Given the description of an element on the screen output the (x, y) to click on. 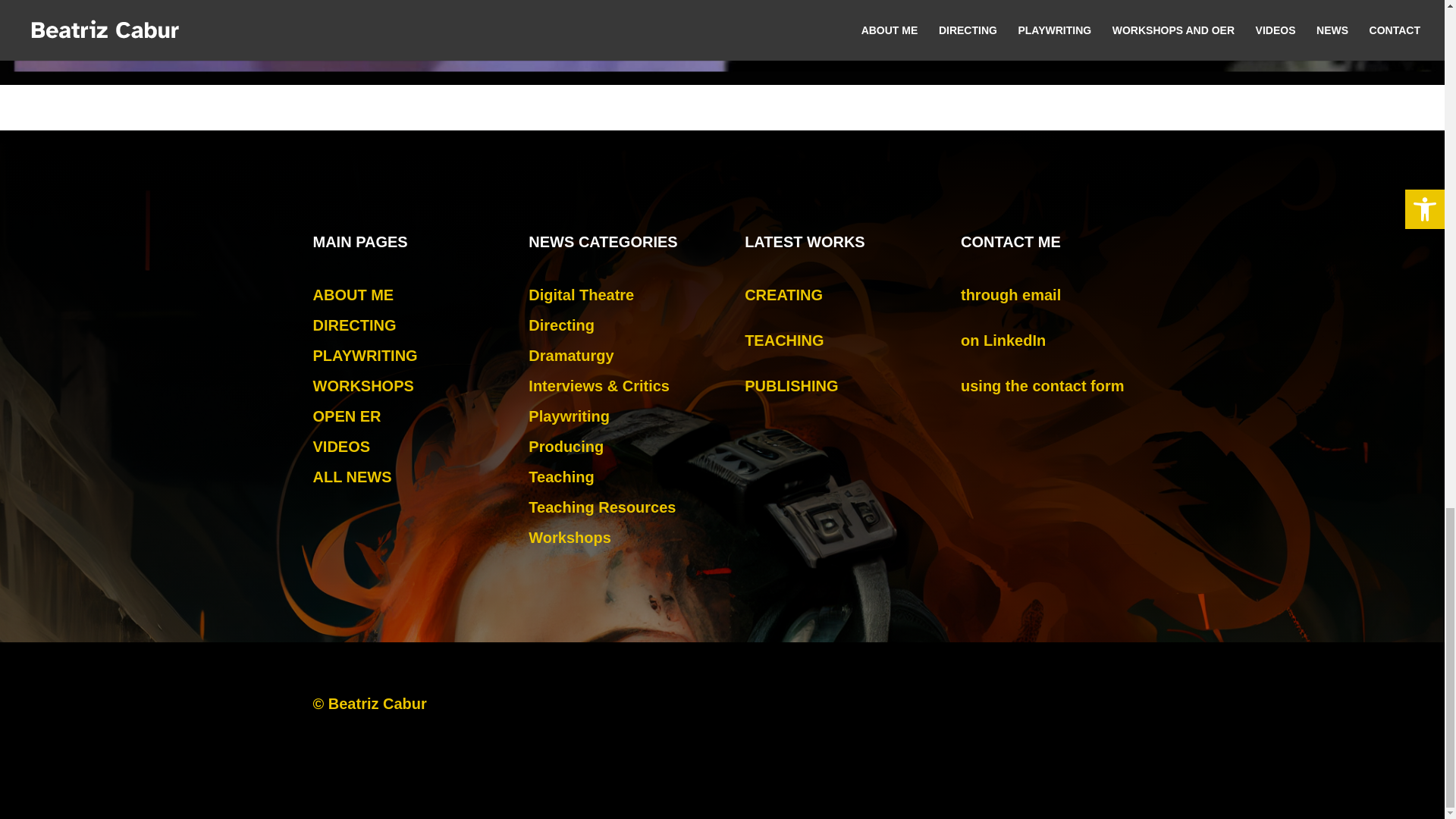
VIDEOS (341, 446)
WORKSHOPS (363, 385)
Playwriting (569, 416)
Directing (561, 324)
Dramaturgy (570, 355)
ALL NEWS (352, 476)
Producing (566, 446)
ABOUT ME (353, 294)
PLAYWRITING (364, 355)
DIRECTING (354, 324)
